Given the description of an element on the screen output the (x, y) to click on. 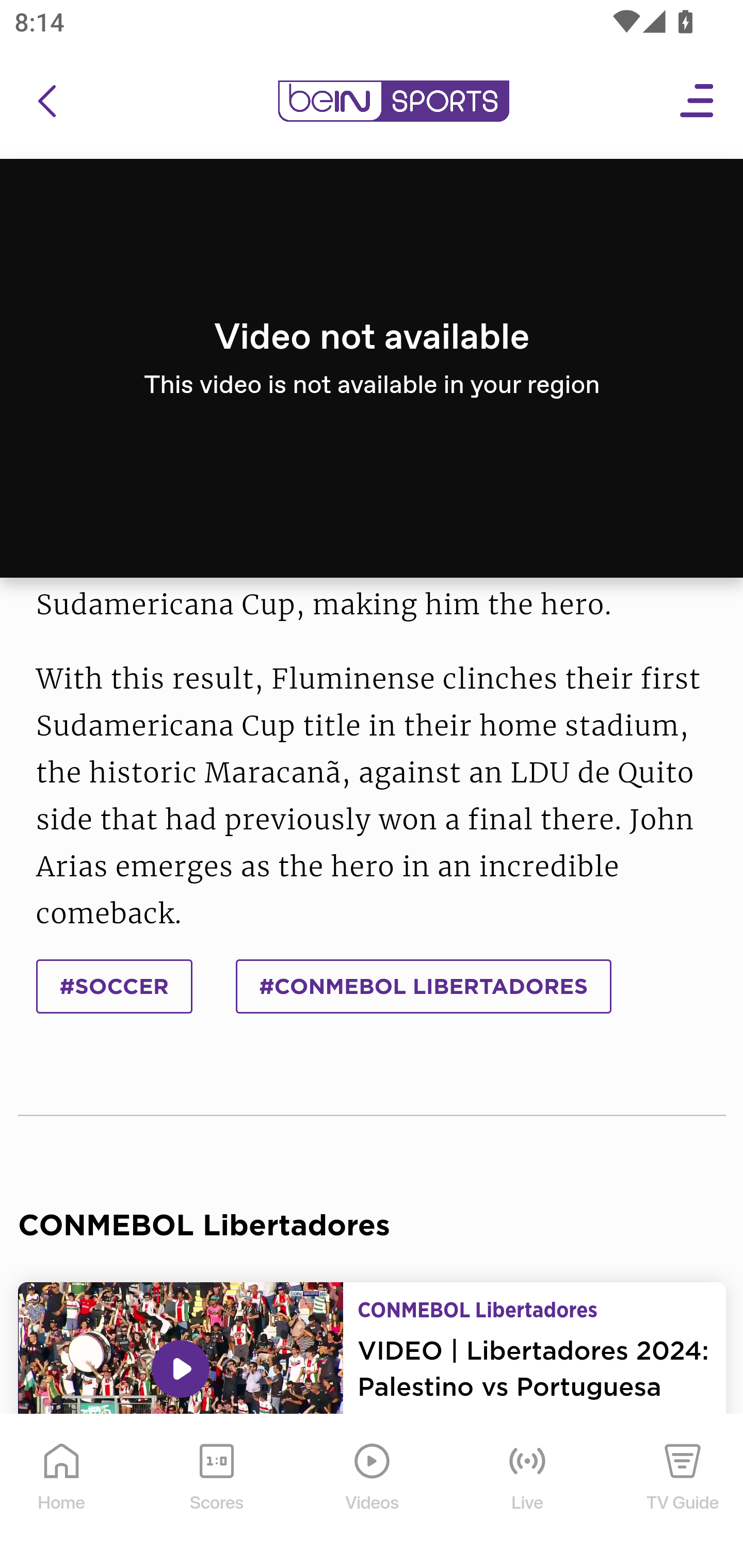
en-us?platform=mobile_android bein logo (392, 101)
icon back (46, 101)
Open Menu Icon (697, 101)
#Soccer (114, 986)
#CONMEBOL Libertadores (423, 986)
Home Home Icon Home (61, 1491)
Scores Scores Icon Scores (216, 1491)
Videos Videos Icon Videos (372, 1491)
TV Guide TV Guide Icon TV Guide (682, 1491)
